Given the description of an element on the screen output the (x, y) to click on. 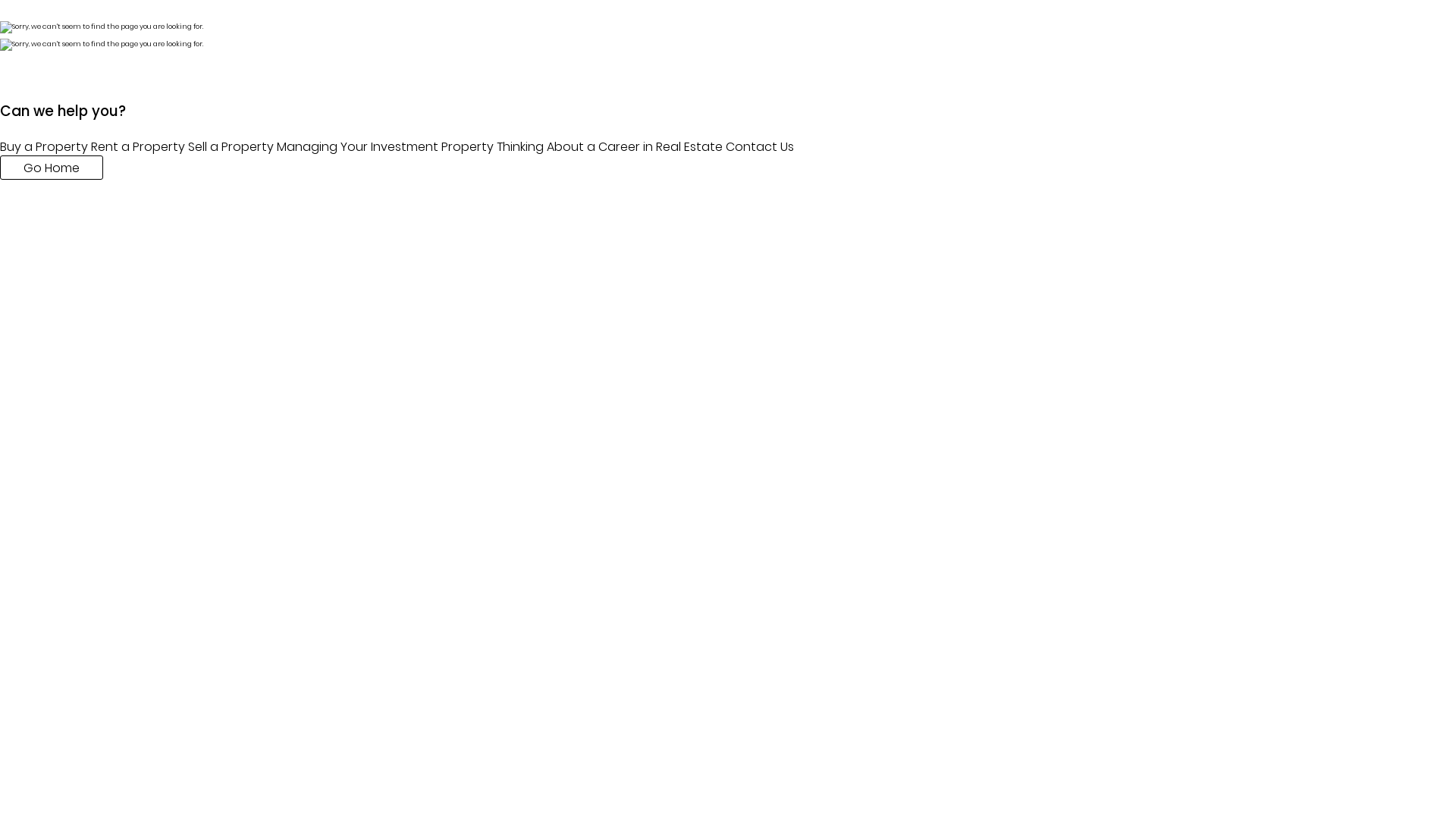
Rent a Property Element type: text (138, 146)
Sell a Property Element type: text (230, 146)
Buy a Property Element type: text (43, 146)
Go Home Element type: text (51, 167)
Managing Your Investment Property Element type: text (384, 146)
Contact Us Element type: text (759, 146)
Thinking About a Career in Real Estate Element type: text (609, 146)
